Given the description of an element on the screen output the (x, y) to click on. 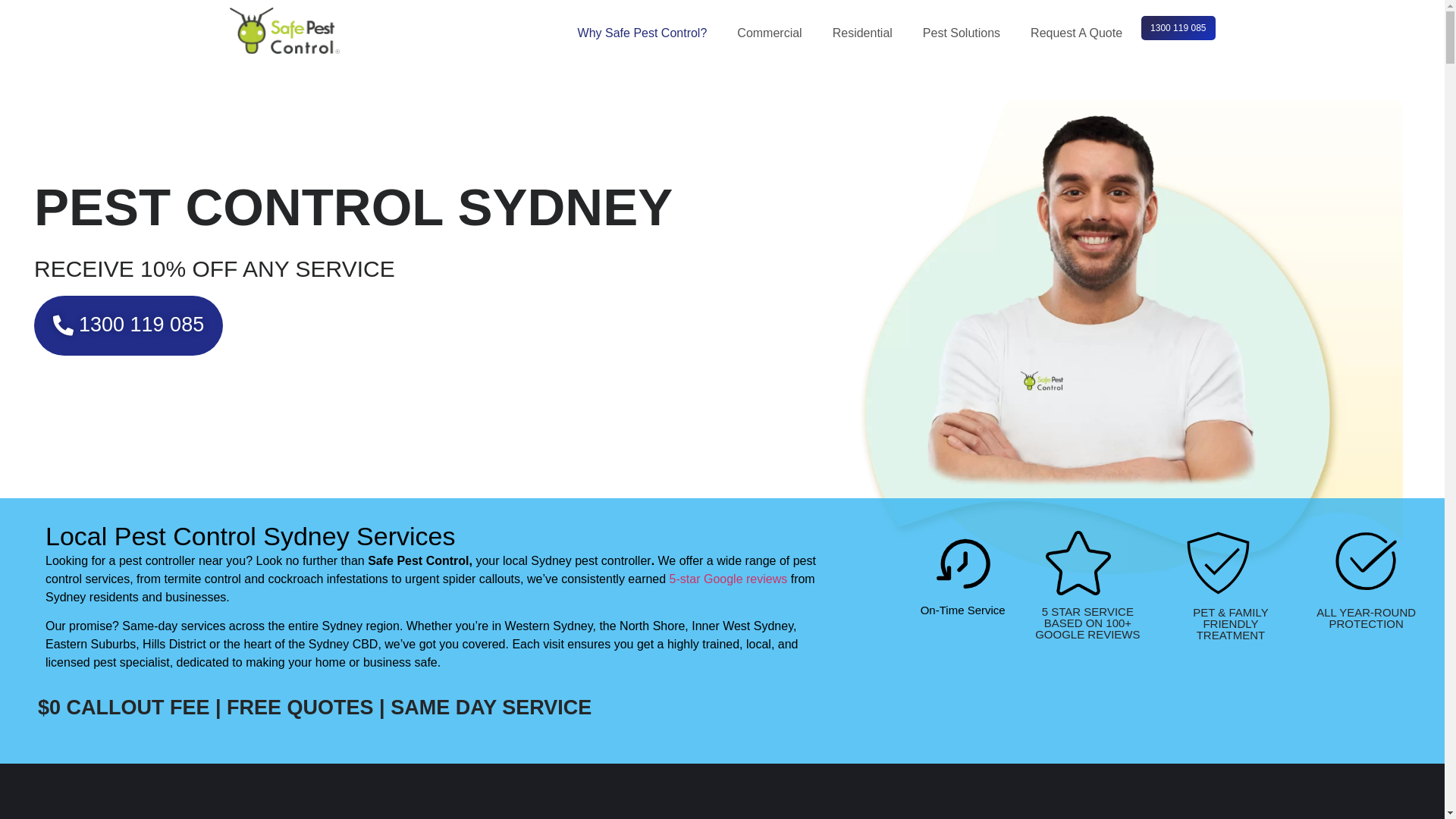
Request A Quote Element type: text (1080, 32)
Pest Solutions Element type: text (965, 32)
Why Safe Pest Control? Element type: text (646, 32)
Commercial Element type: text (772, 32)
1300 119 085 Element type: text (1177, 27)
5-star Google reviews Element type: text (728, 578)
Residential Element type: text (866, 32)
1300 119 085 Element type: text (128, 325)
